Given the description of an element on the screen output the (x, y) to click on. 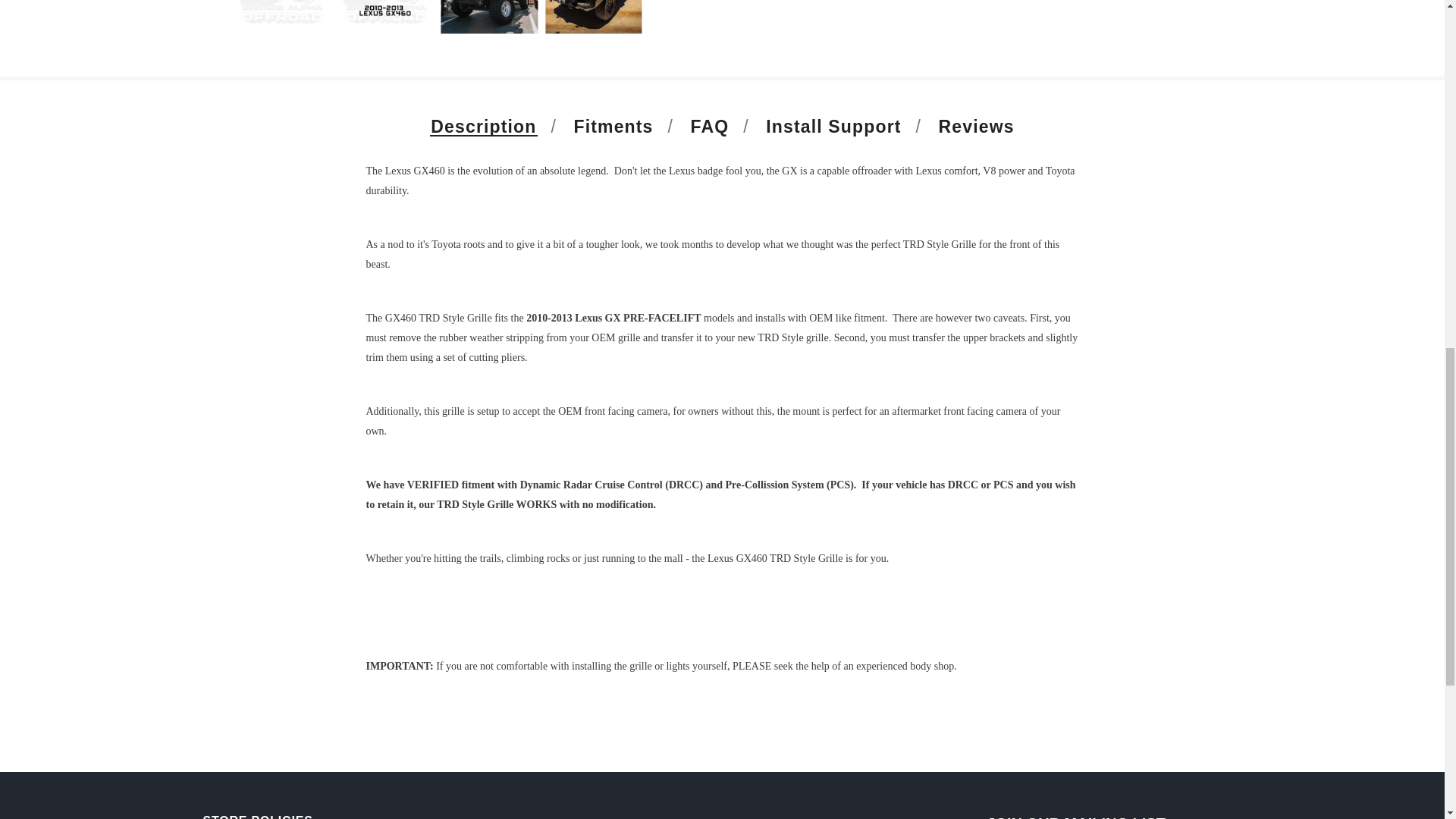
Reviews (976, 126)
Install Support (833, 126)
Description (482, 126)
Fitments (613, 126)
FAQ (709, 126)
